Given the description of an element on the screen output the (x, y) to click on. 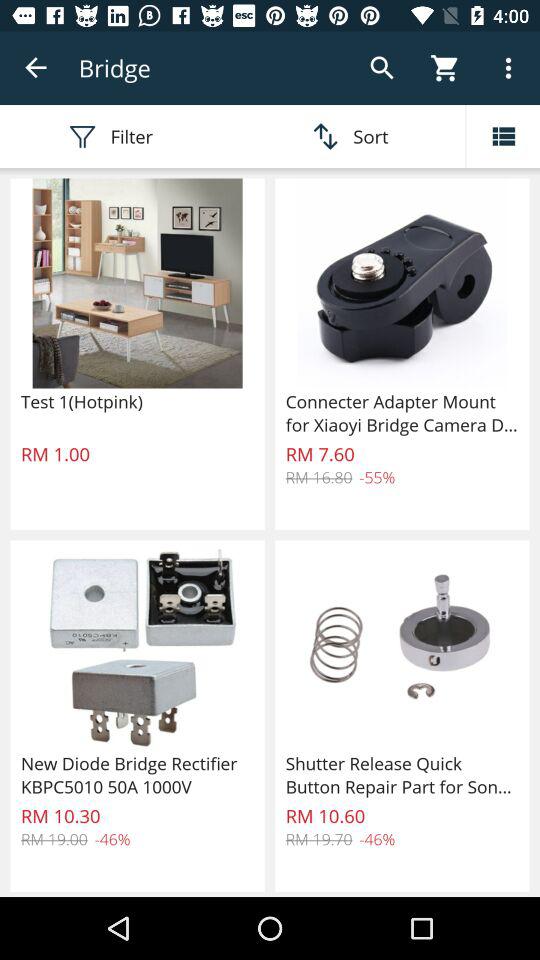
return to search (36, 68)
